Given the description of an element on the screen output the (x, y) to click on. 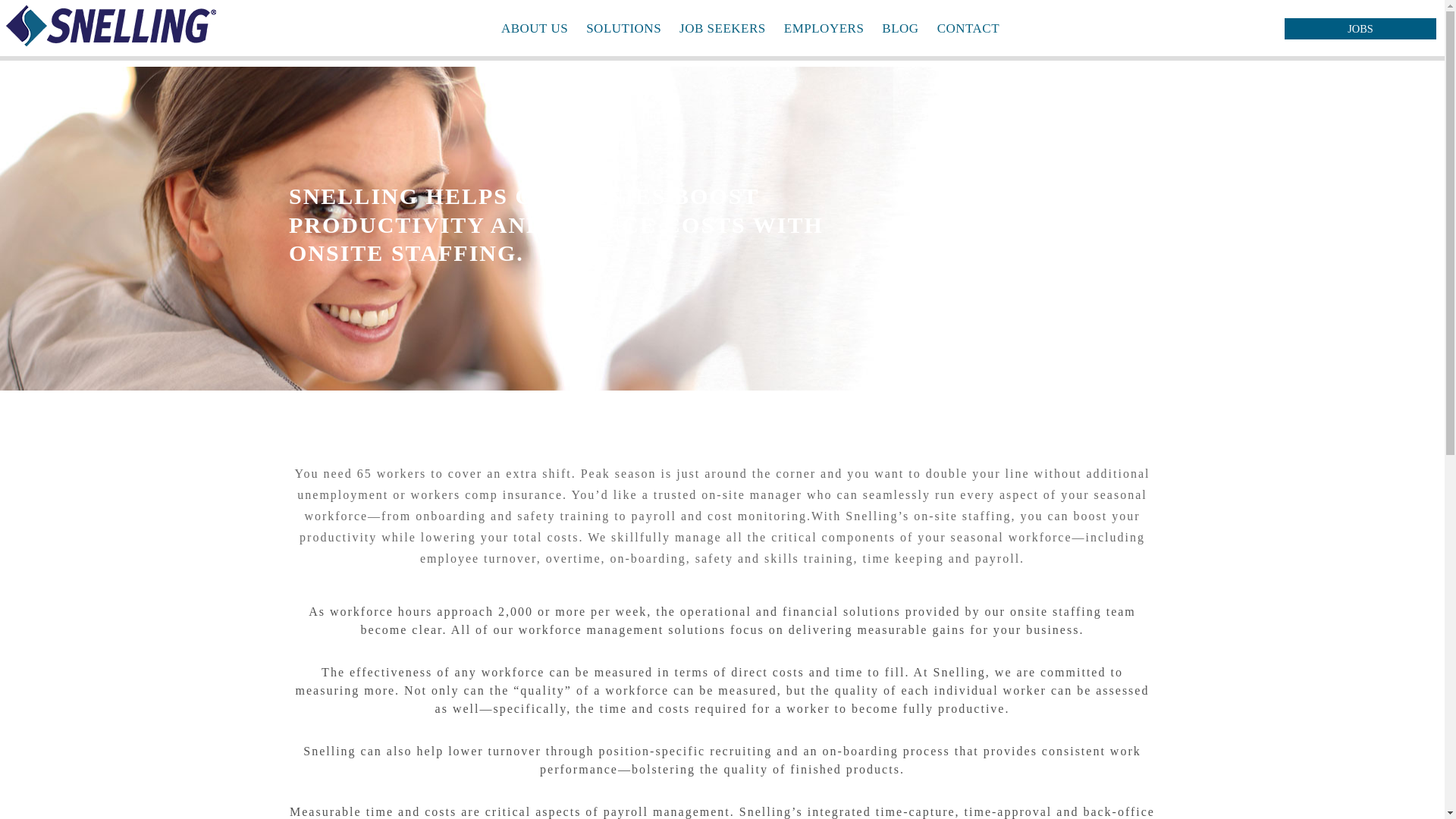
JOB SEEKERS (721, 28)
SOLUTIONS (622, 28)
Kalamazoo (110, 37)
ABOUT US (534, 28)
